Given the description of an element on the screen output the (x, y) to click on. 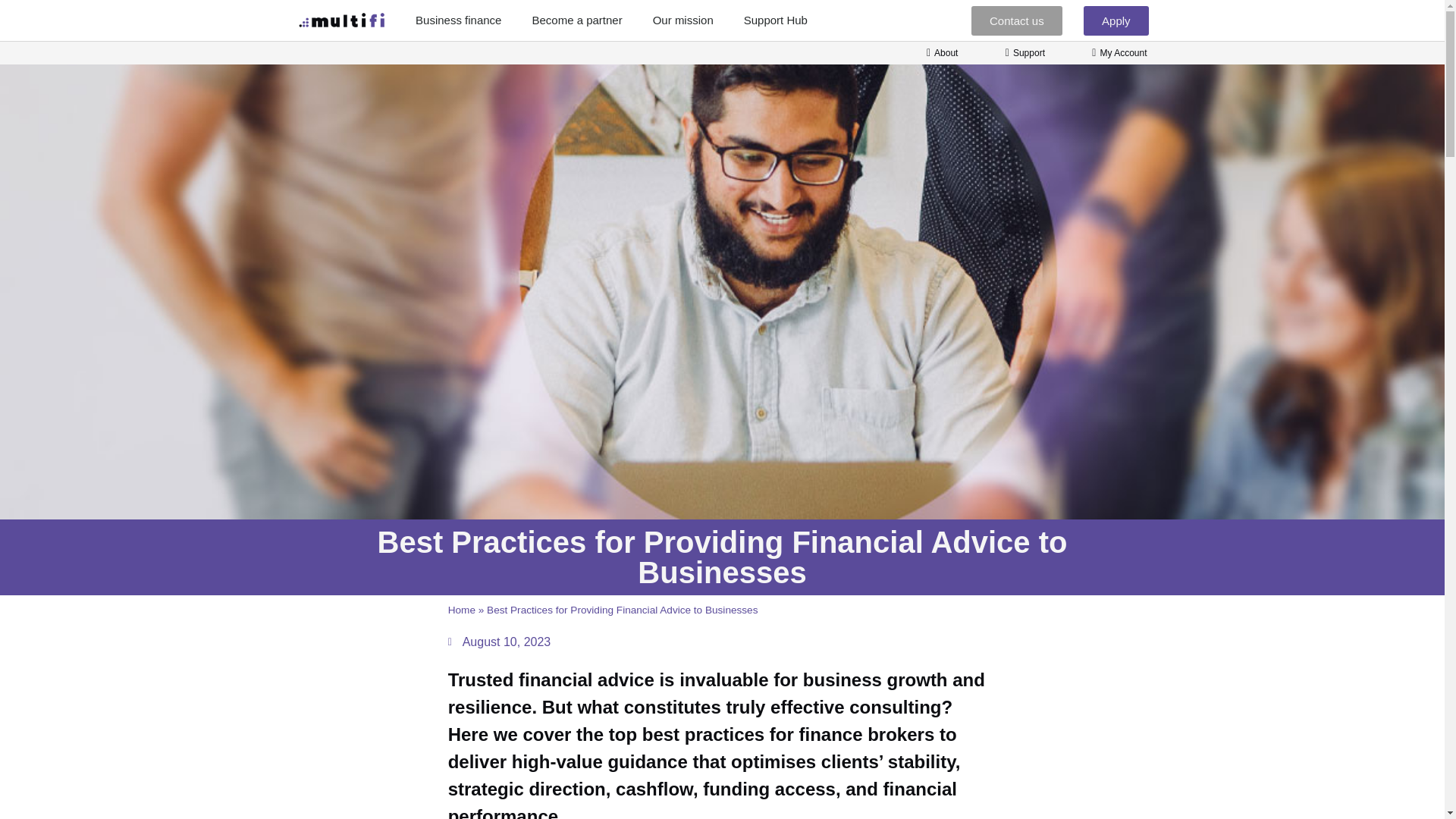
About (937, 52)
Apply (1115, 20)
Support (1020, 52)
Our mission (683, 20)
Support Hub (775, 20)
Home (462, 609)
Business finance (458, 20)
August 10, 2023 (499, 642)
Contact us (1016, 20)
My Account (1115, 52)
Become a partner (576, 20)
